Given the description of an element on the screen output the (x, y) to click on. 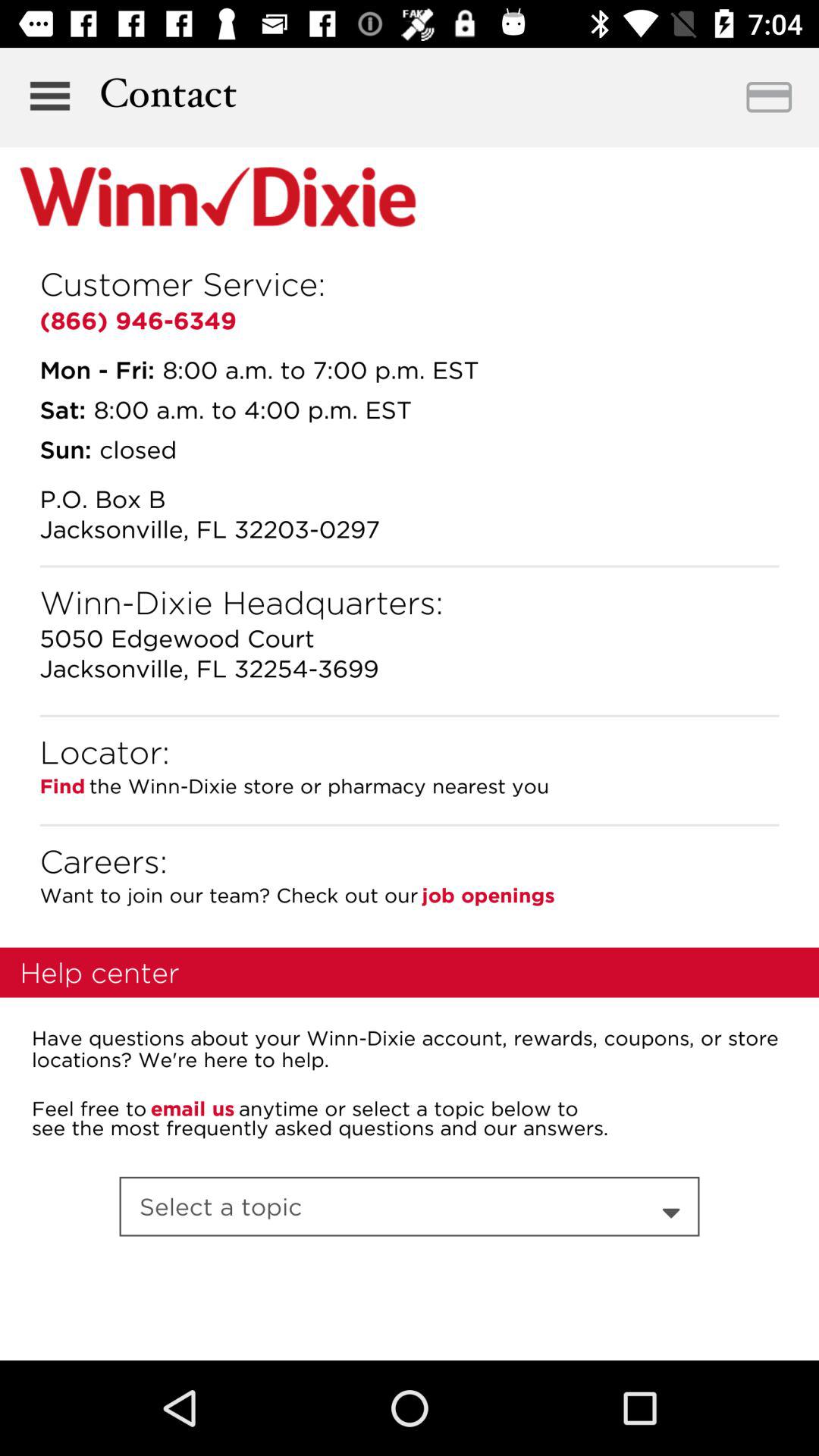
launch the icon below jacksonville fl 32203 (409, 566)
